Given the description of an element on the screen output the (x, y) to click on. 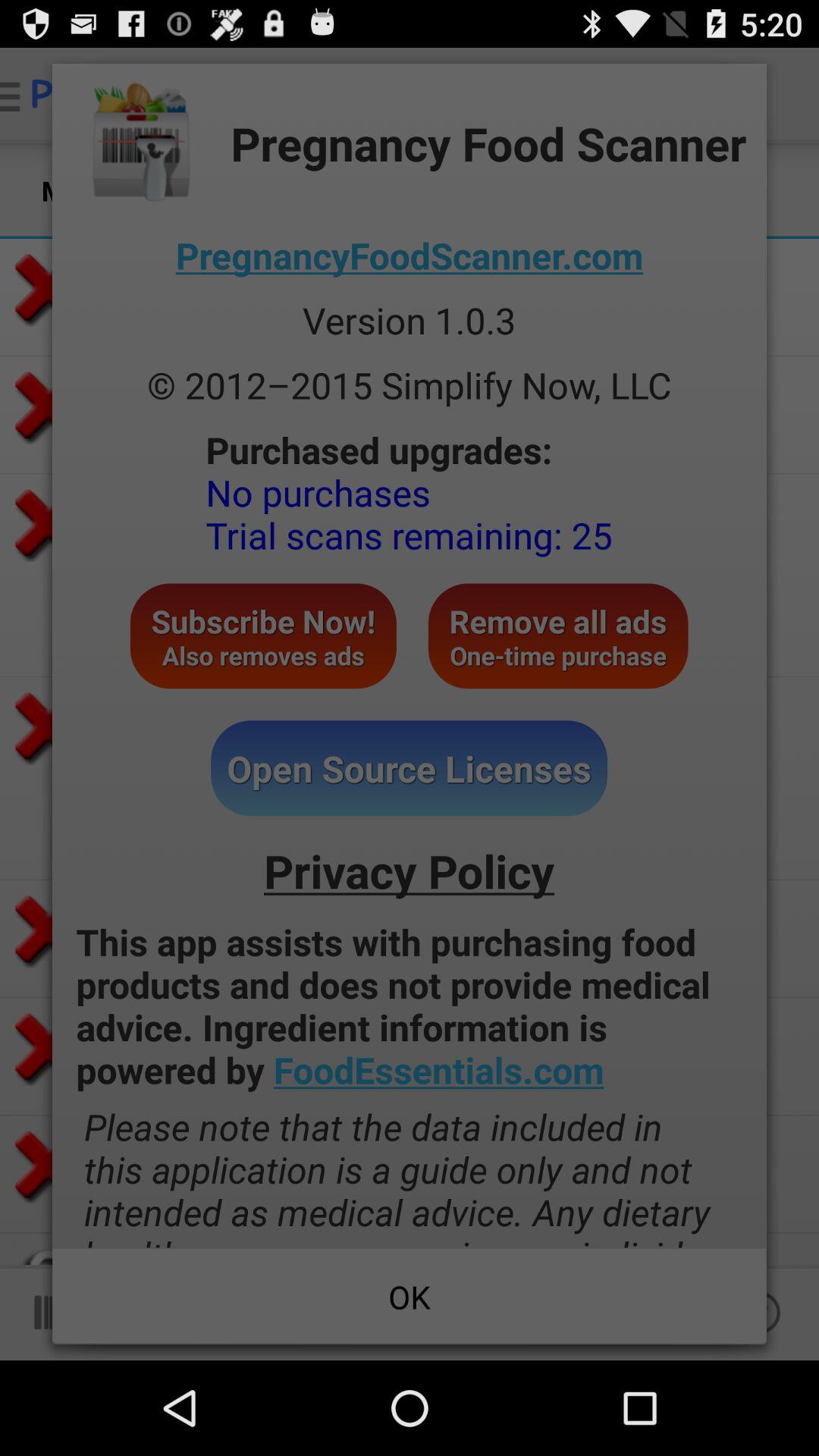
scroll to the this app assists item (409, 1005)
